Given the description of an element on the screen output the (x, y) to click on. 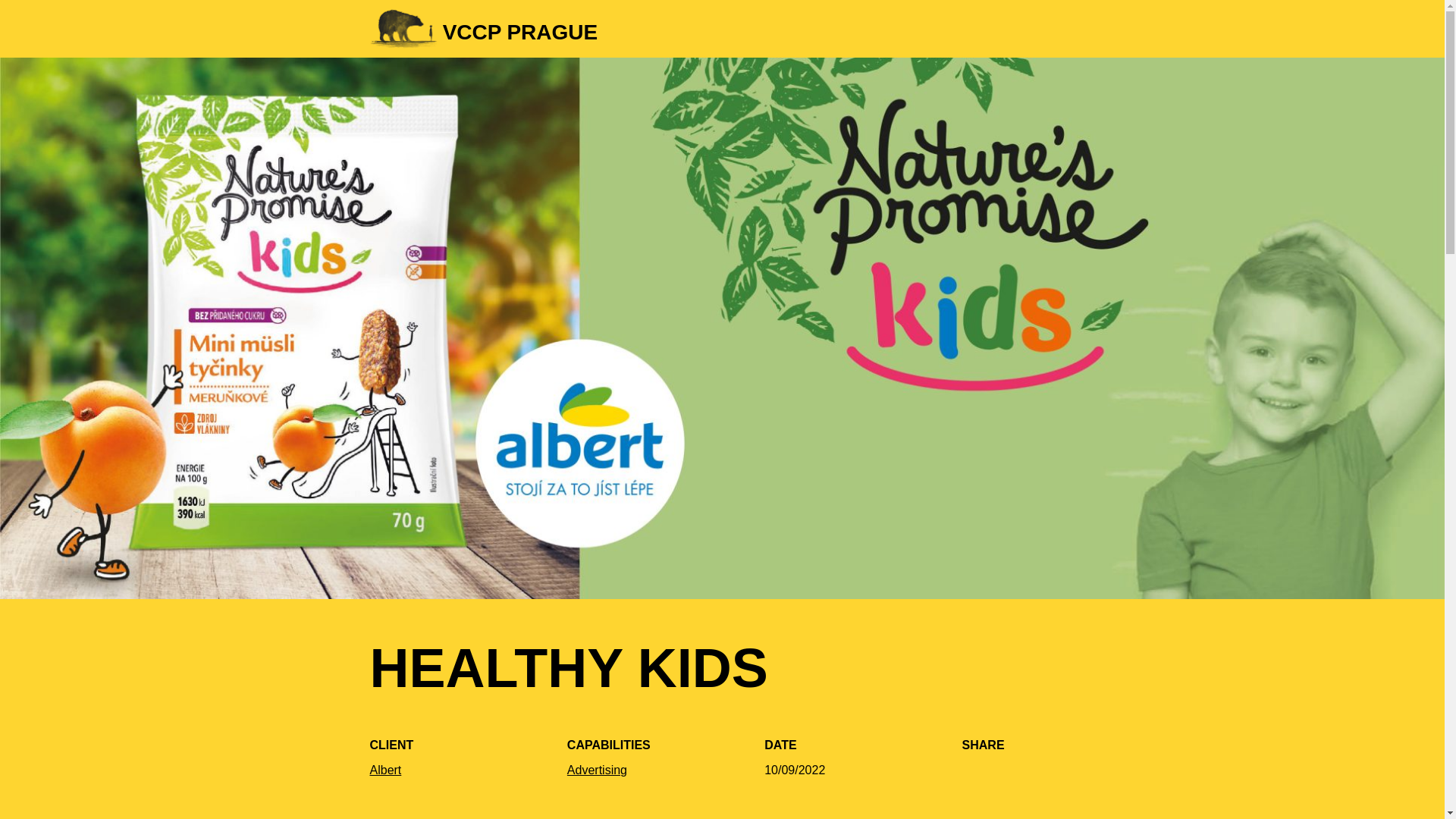
Albert (385, 769)
LINKED IN (1057, 777)
Advertising (600, 28)
FACEBOOK (597, 769)
SEARCH (978, 777)
TWITTER (1022, 29)
